Given the description of an element on the screen output the (x, y) to click on. 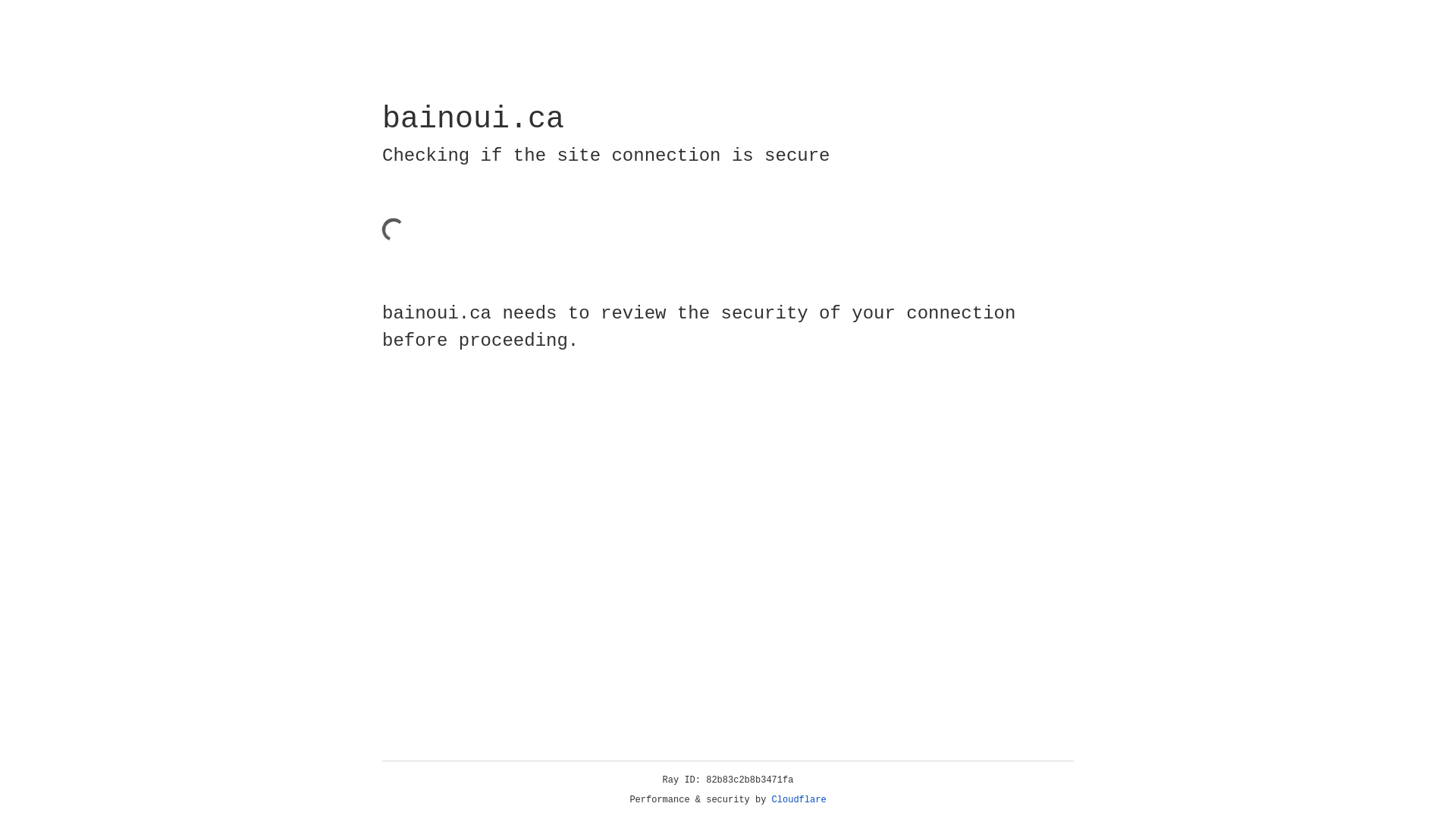
Cloudflare Element type: text (798, 799)
